Given the description of an element on the screen output the (x, y) to click on. 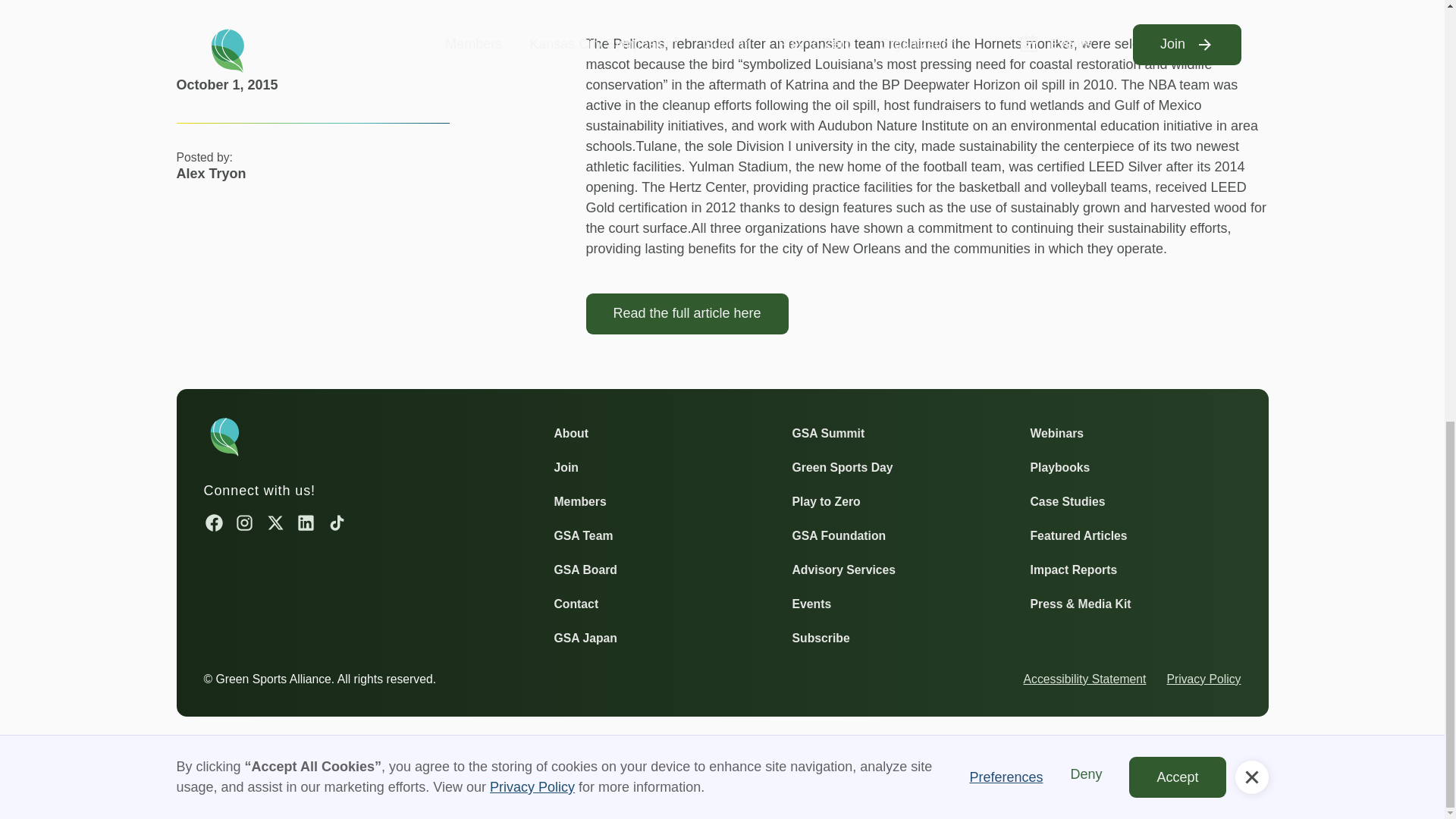
About (570, 433)
GSA Team (582, 535)
Read the full article here (686, 313)
Members (579, 501)
Join (565, 467)
